Given the description of an element on the screen output the (x, y) to click on. 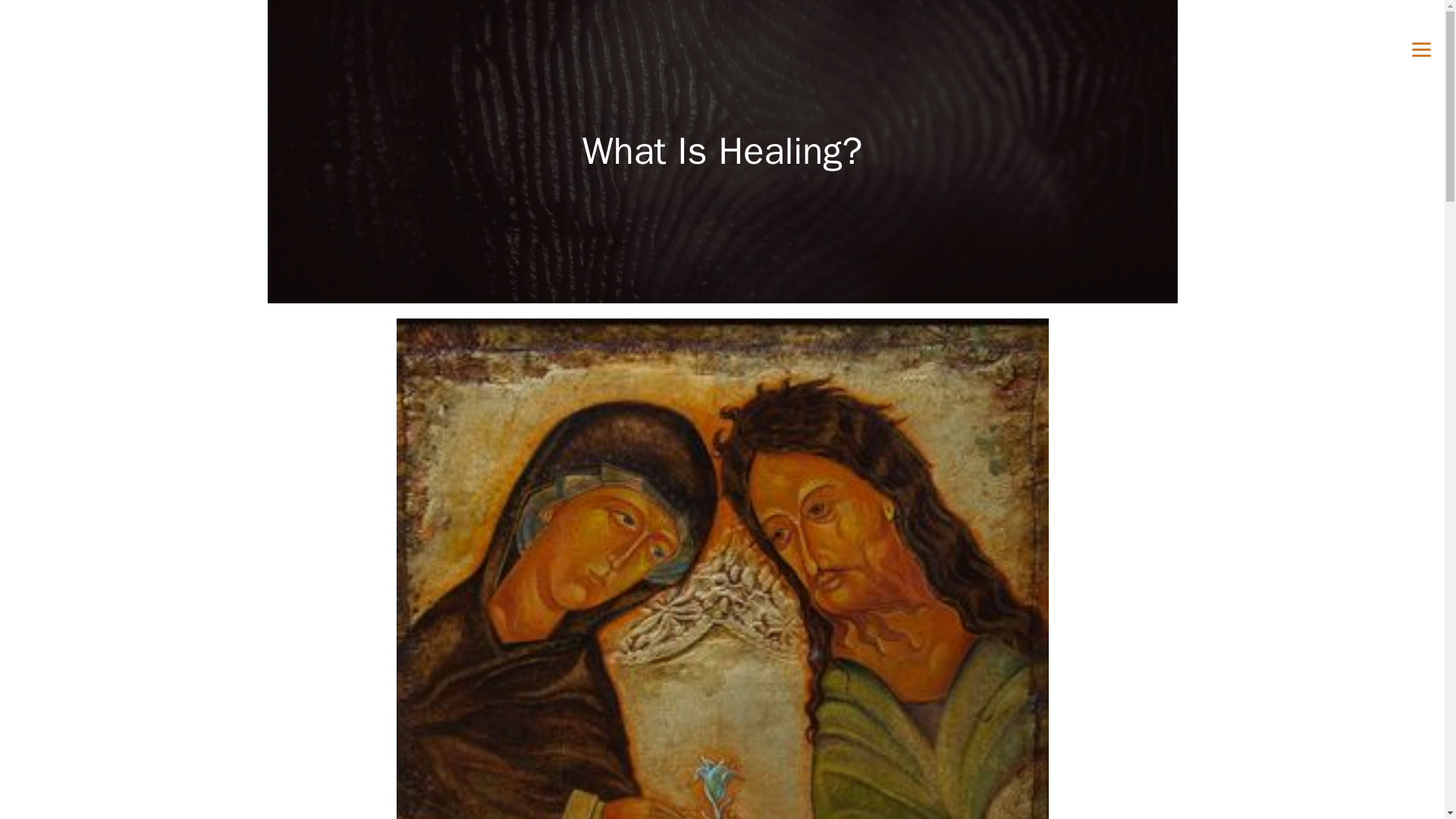
Bruce Sanguin (1293, 39)
Bruce Sanguin (1293, 39)
Psychotherapist (1308, 62)
Psychotherapist (1308, 62)
